Given the description of an element on the screen output the (x, y) to click on. 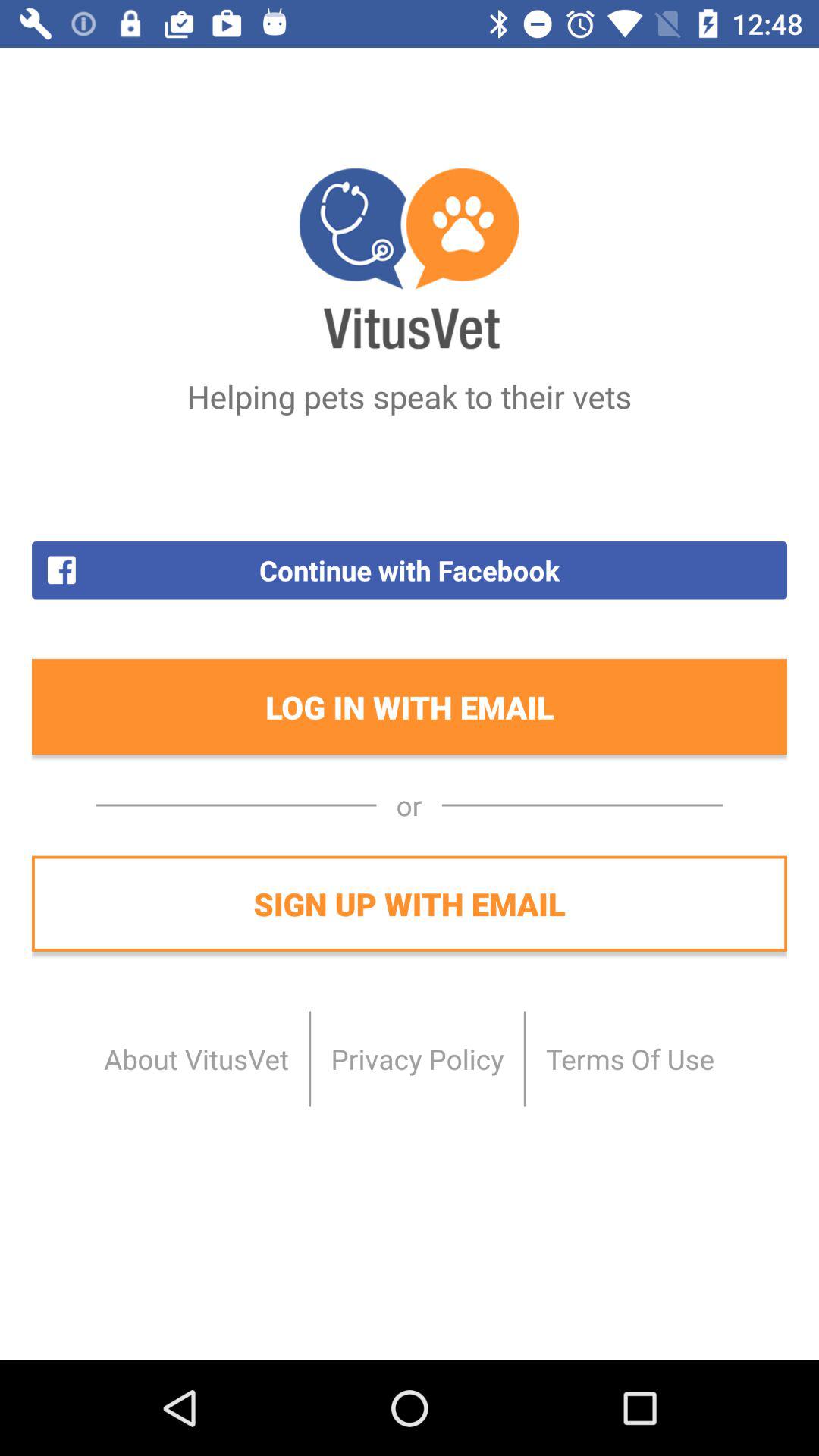
flip to sign up with item (409, 903)
